Given the description of an element on the screen output the (x, y) to click on. 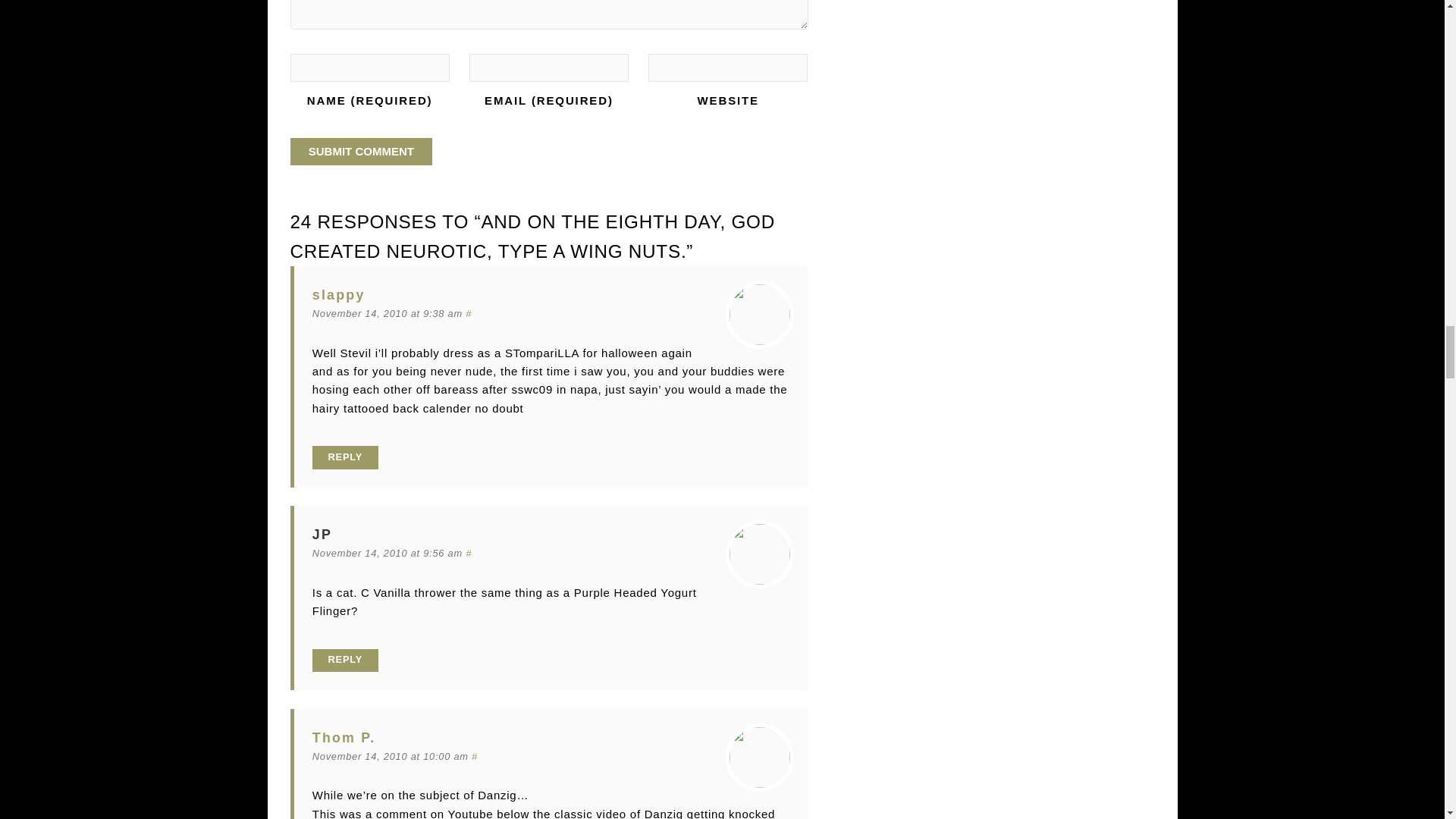
Submit Comment (360, 151)
Submit Comment (360, 151)
slappy (339, 294)
